Given the description of an element on the screen output the (x, y) to click on. 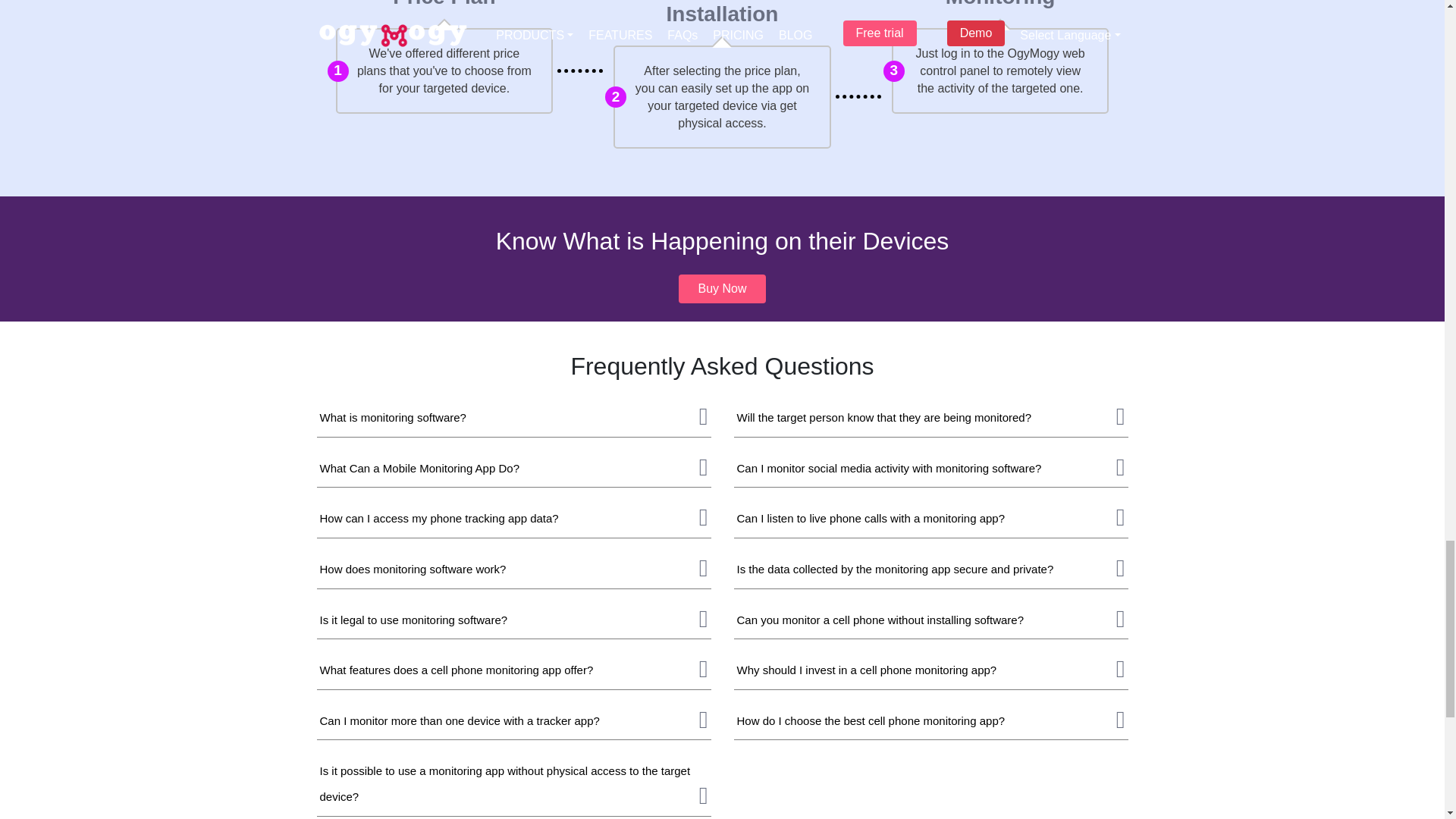
Is it legal to use monitoring software? (414, 619)
Can I monitor more than one device with a tracker app? (459, 720)
How can I access my phone tracking app data? (439, 517)
What Can a Mobile Monitoring App Do? (419, 468)
Can you monitor a cell phone without installing software? (880, 619)
What features does a cell phone monitoring app offer? (457, 669)
Can I listen to live phone calls with a monitoring app? (871, 517)
Buy Now (721, 288)
